Given the description of an element on the screen output the (x, y) to click on. 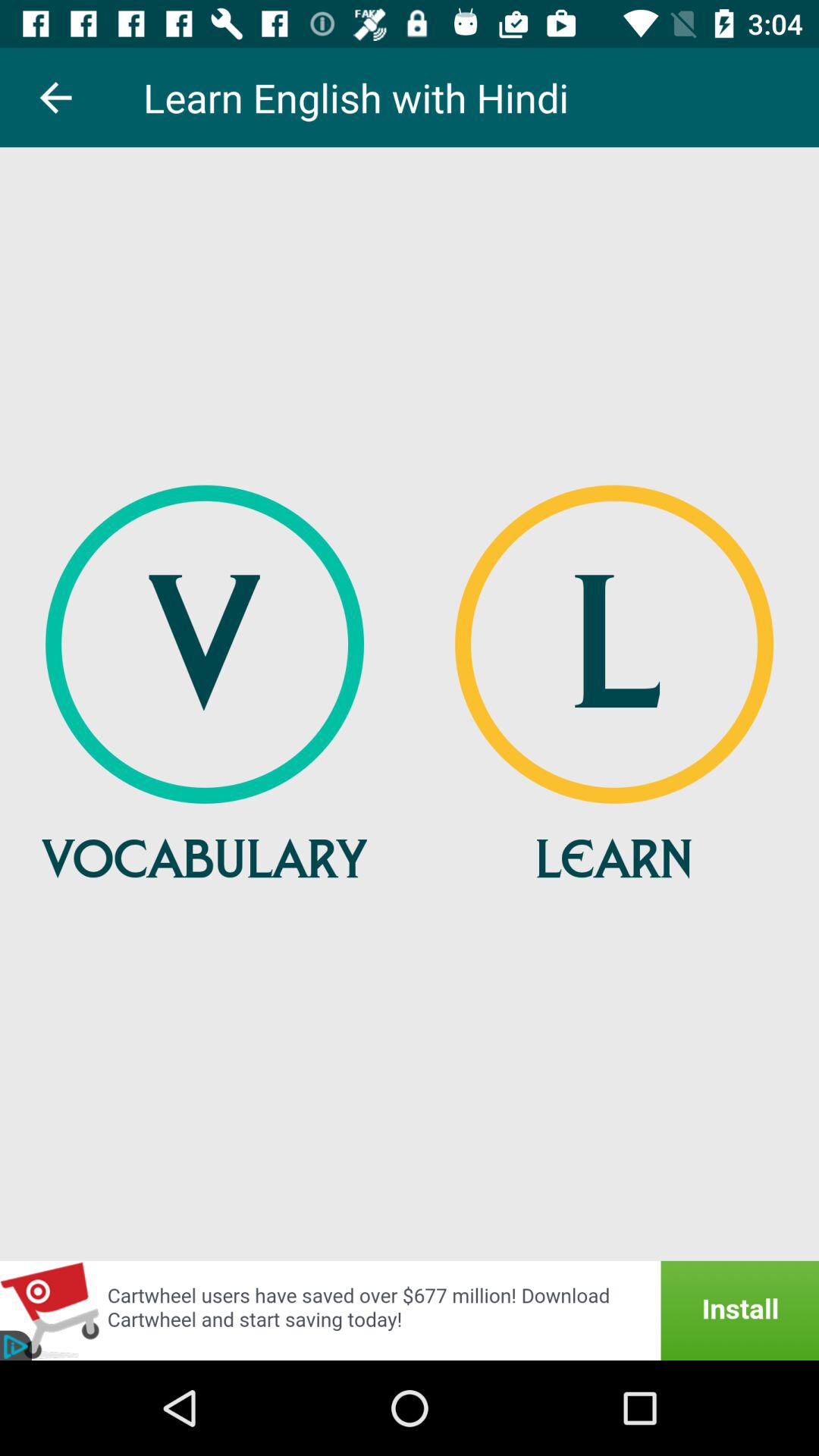
go to advertisement (409, 1310)
